Given the description of an element on the screen output the (x, y) to click on. 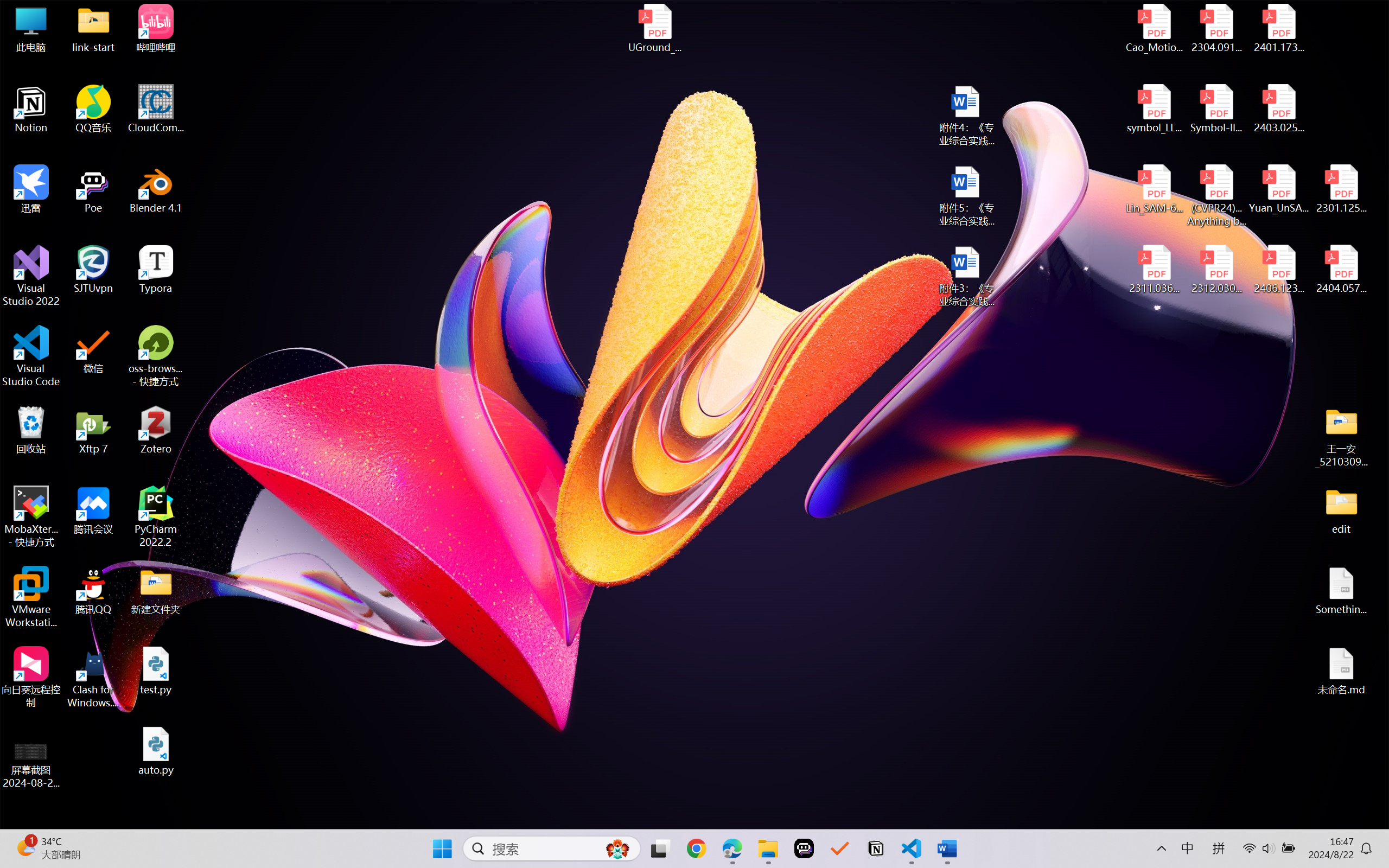
warning 31 Spell, Issues: 31 "auto.py" is spell checked. (1308, 816)
windows_crawler.py (404, 57)
Highlighter: Yellow, 6 mm (309, 94)
